Given the description of an element on the screen output the (x, y) to click on. 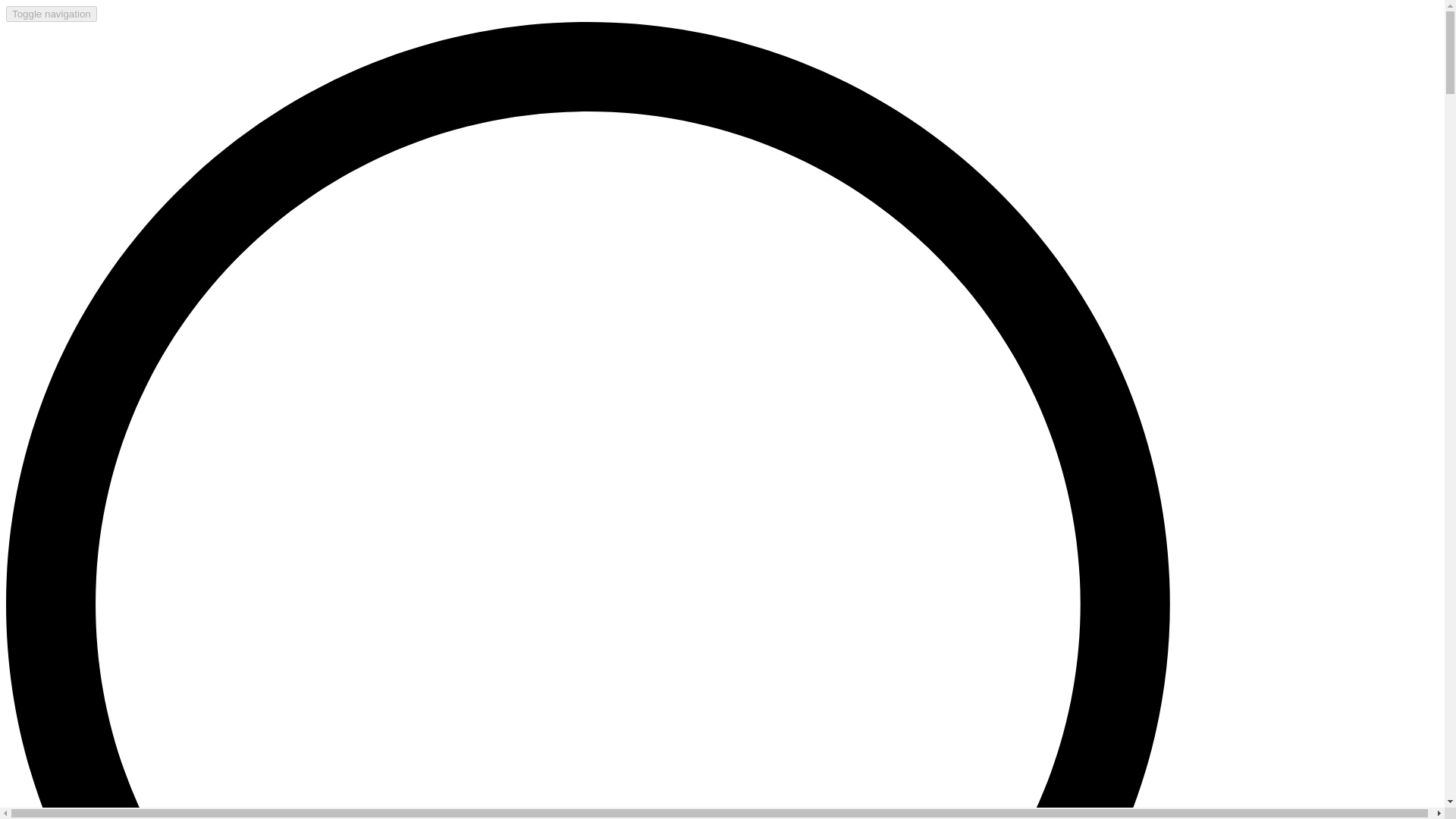
Toggle navigation (51, 13)
